Given the description of an element on the screen output the (x, y) to click on. 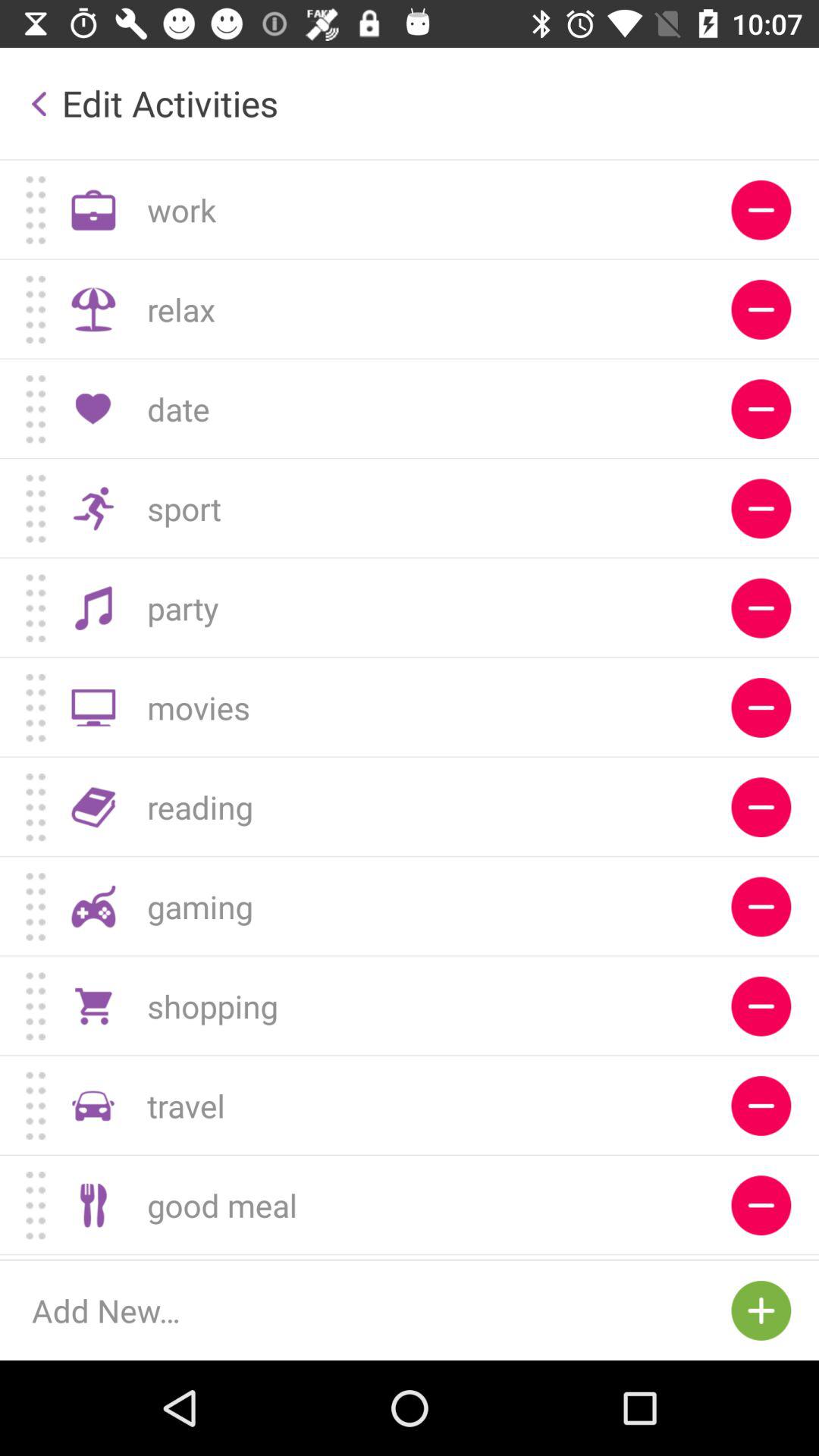
remove (761, 906)
